Given the description of an element on the screen output the (x, y) to click on. 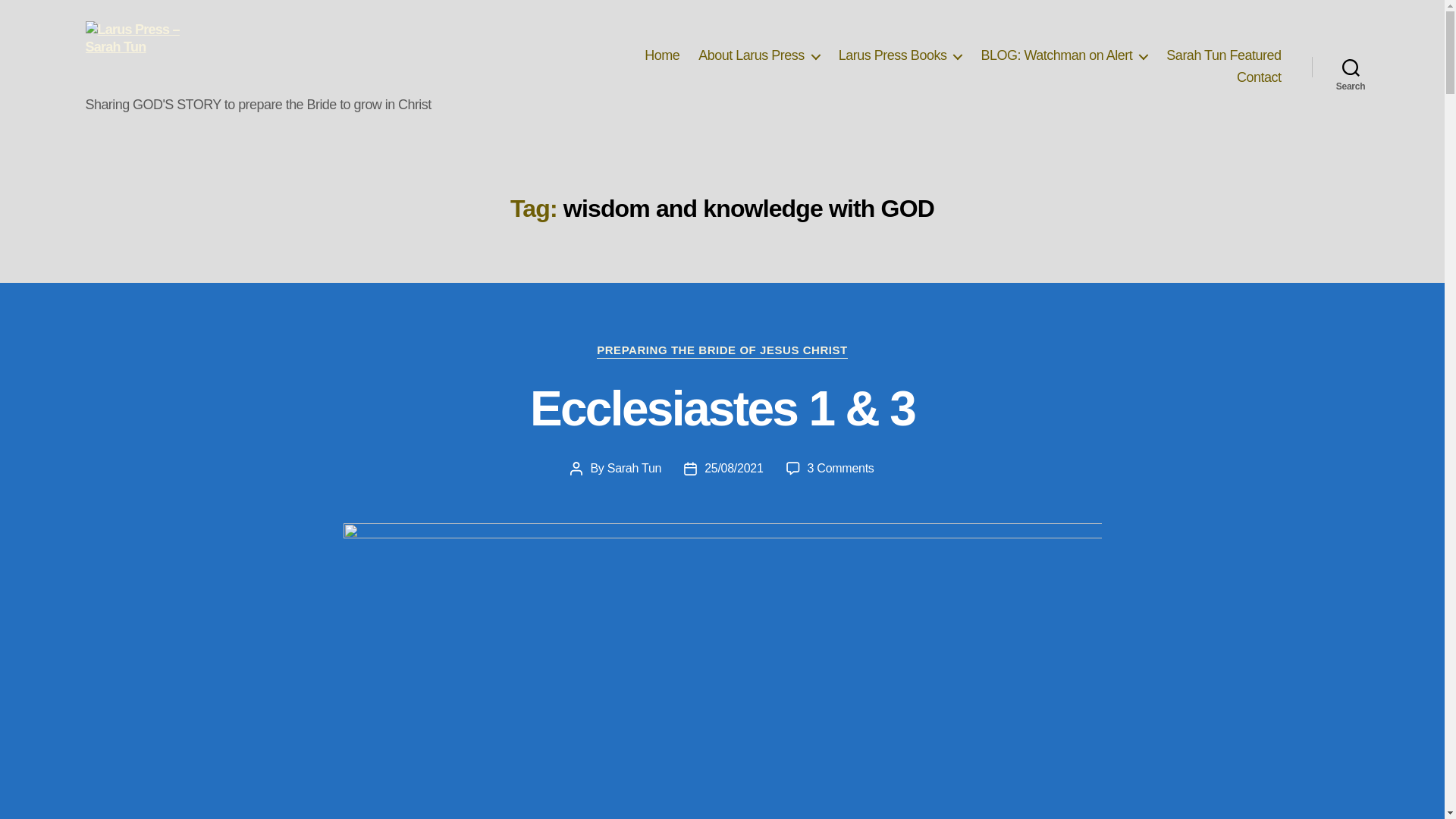
Contact (1258, 77)
BLOG: Watchman on Alert (1063, 55)
Search (1350, 66)
Sarah Tun Featured (1223, 55)
About Larus Press (758, 55)
Home (662, 55)
Larus Press Books (900, 55)
